Given the description of an element on the screen output the (x, y) to click on. 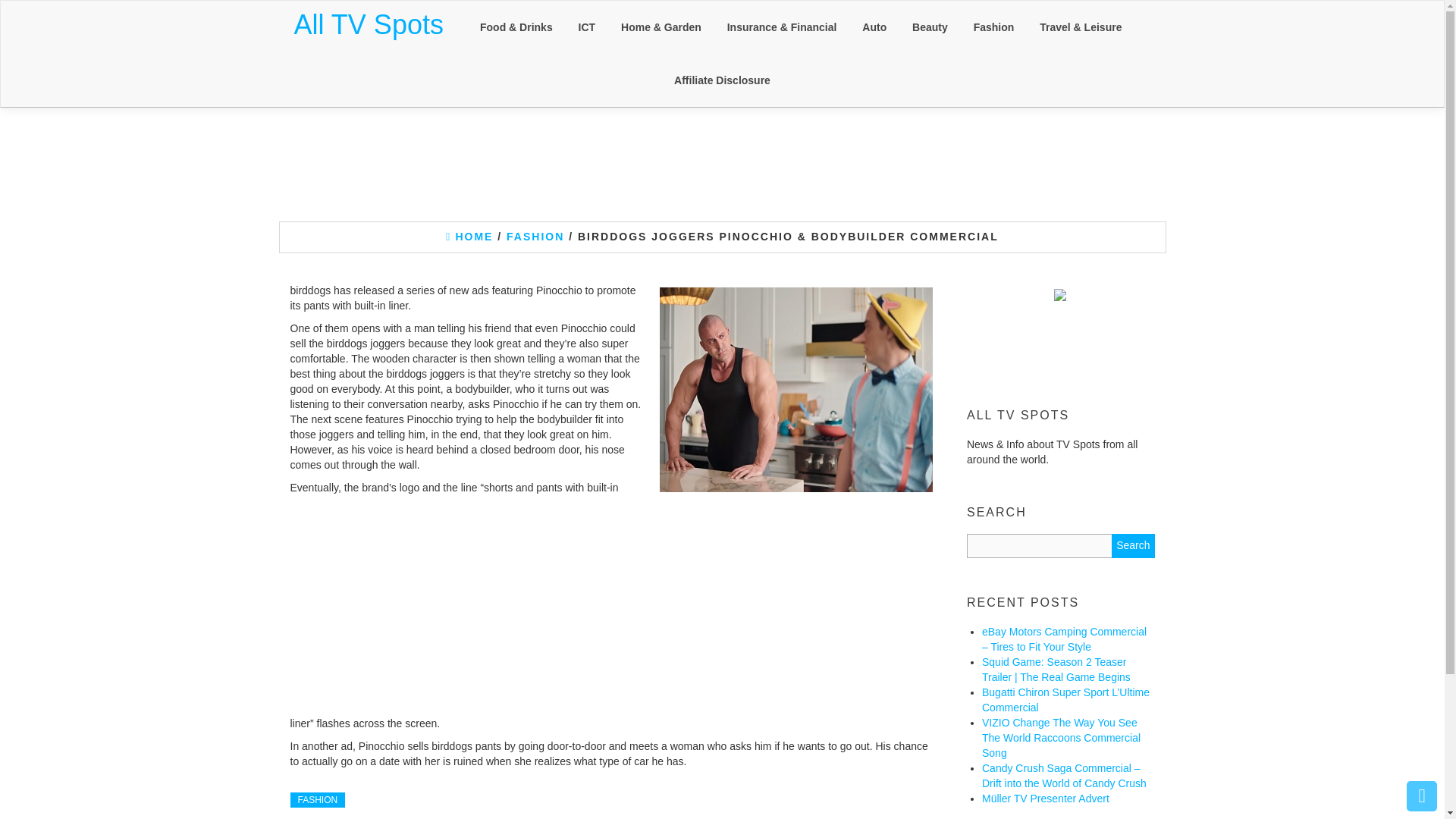
Search (1133, 545)
Fashion (994, 27)
Search (1133, 545)
Beauty (930, 27)
All TV Spots (369, 24)
HOME (469, 236)
FASHION (535, 236)
Affiliate Disclosure (721, 80)
Affiliate Disclosure (721, 80)
FASHION (317, 799)
Fashion (994, 27)
Beauty (930, 27)
All TV Spots (369, 24)
